Given the description of an element on the screen output the (x, y) to click on. 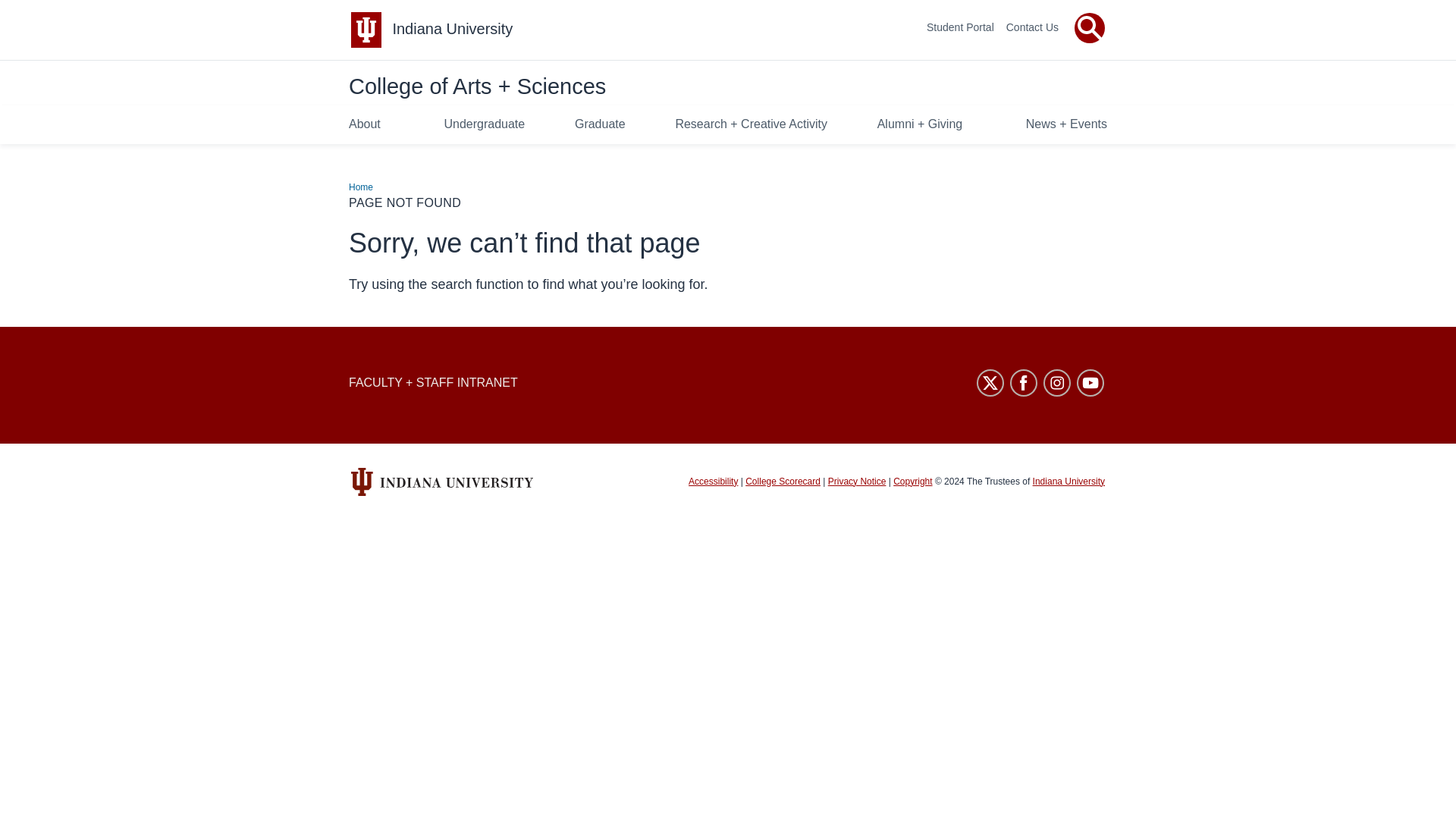
Indiana University (451, 28)
Indiana University (451, 28)
